Given the description of an element on the screen output the (x, y) to click on. 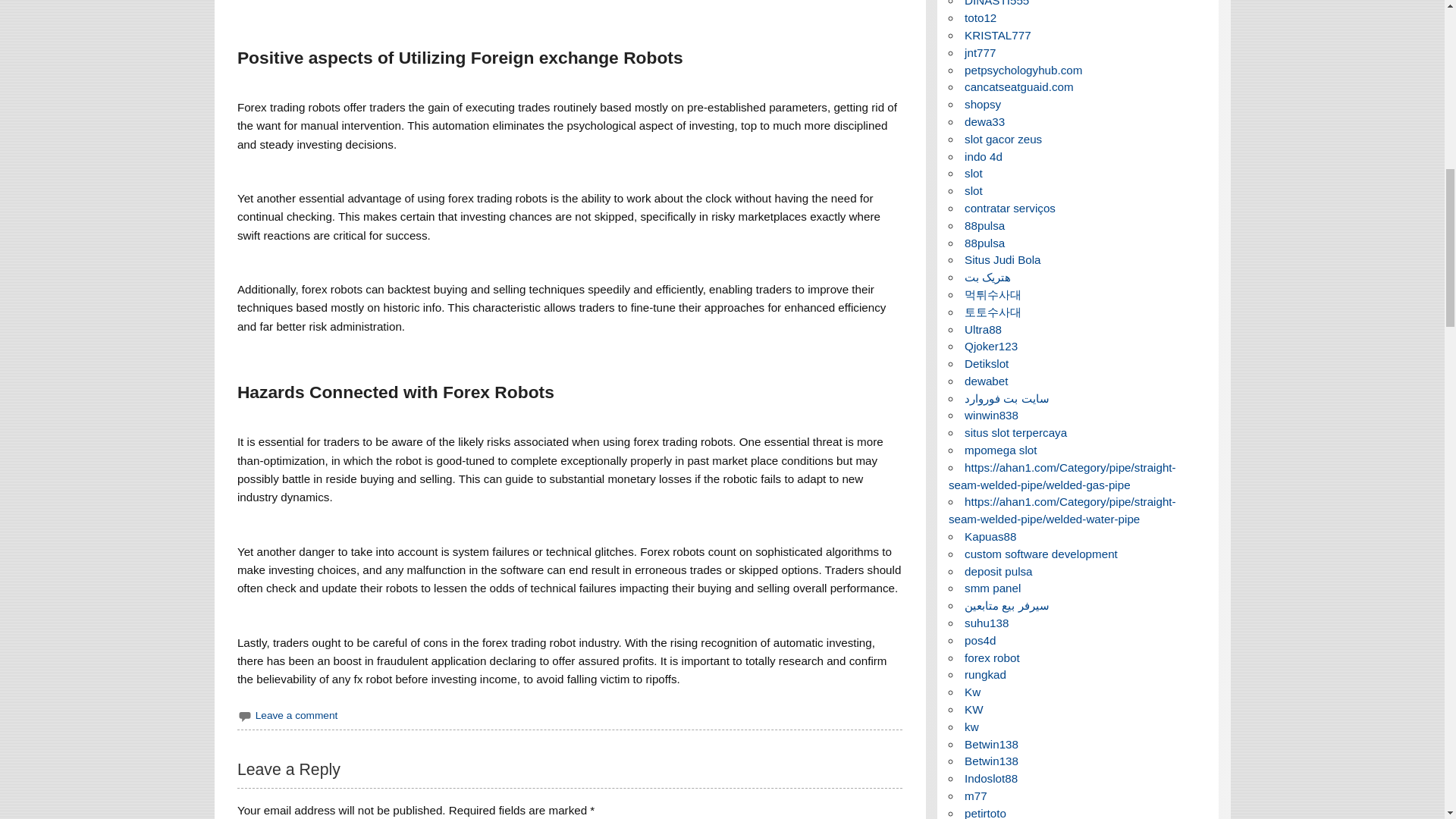
Leave a comment (296, 715)
